Given the description of an element on the screen output the (x, y) to click on. 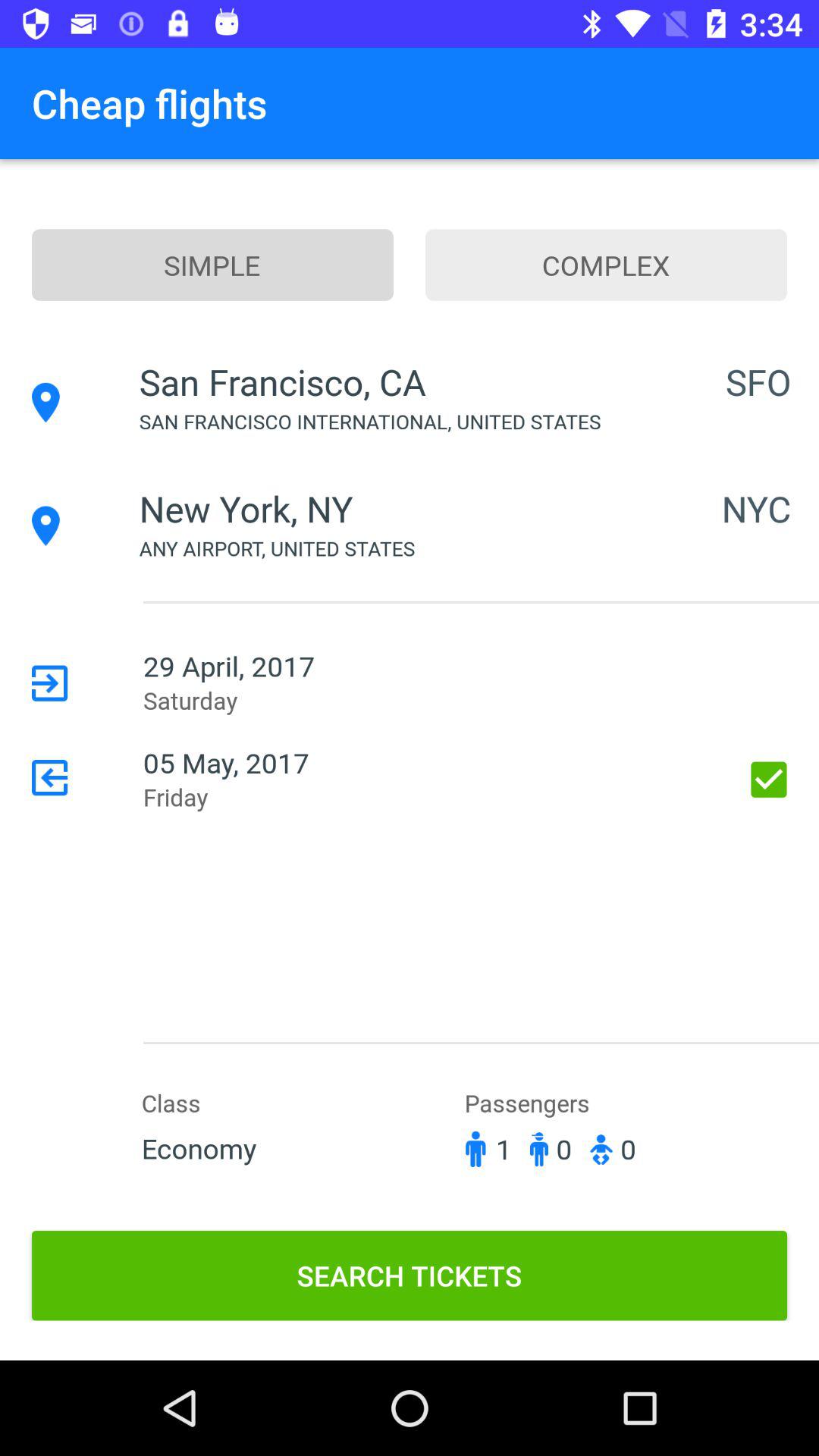
open complex icon (606, 264)
